Given the description of an element on the screen output the (x, y) to click on. 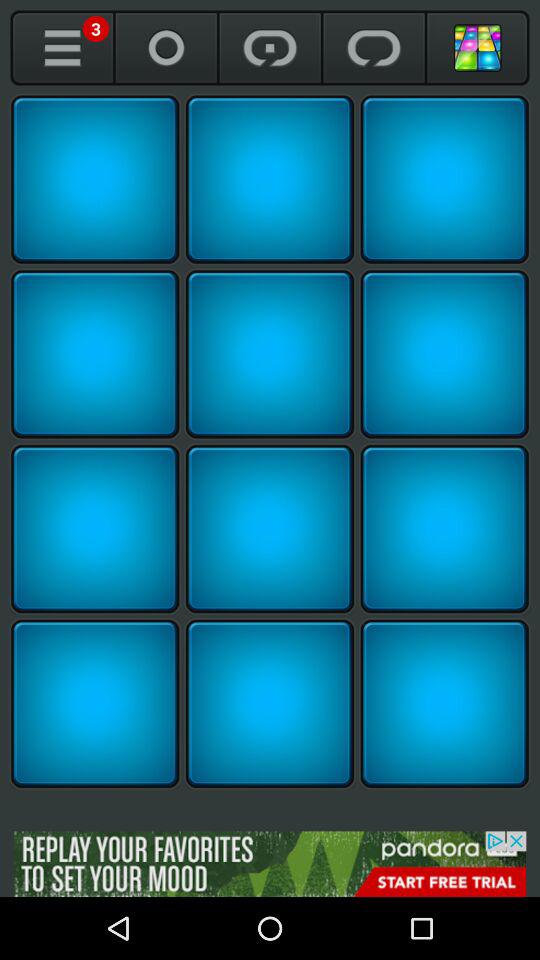
select top middle square (269, 179)
